Given the description of an element on the screen output the (x, y) to click on. 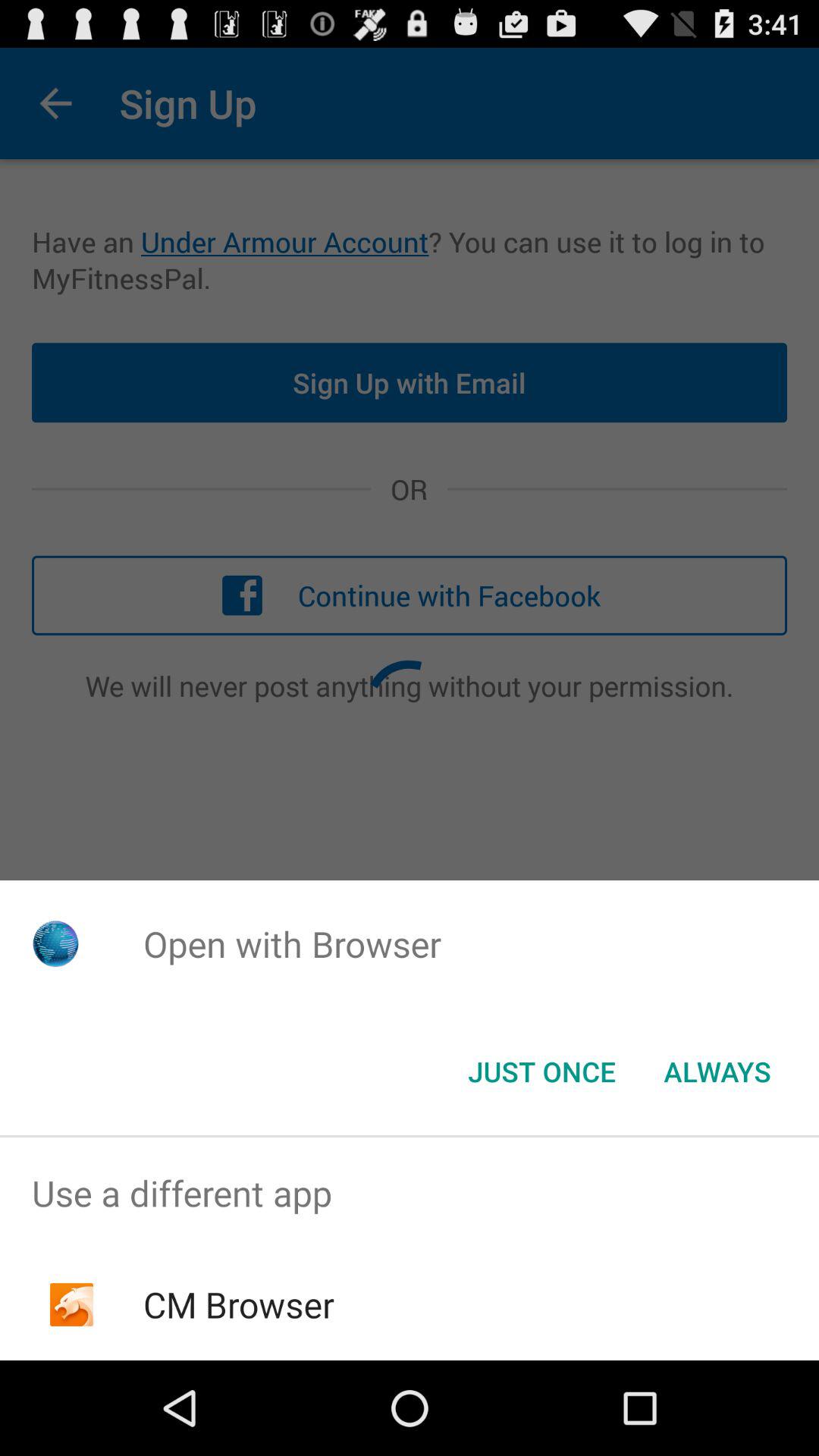
launch app below the open with browser item (717, 1071)
